Given the description of an element on the screen output the (x, y) to click on. 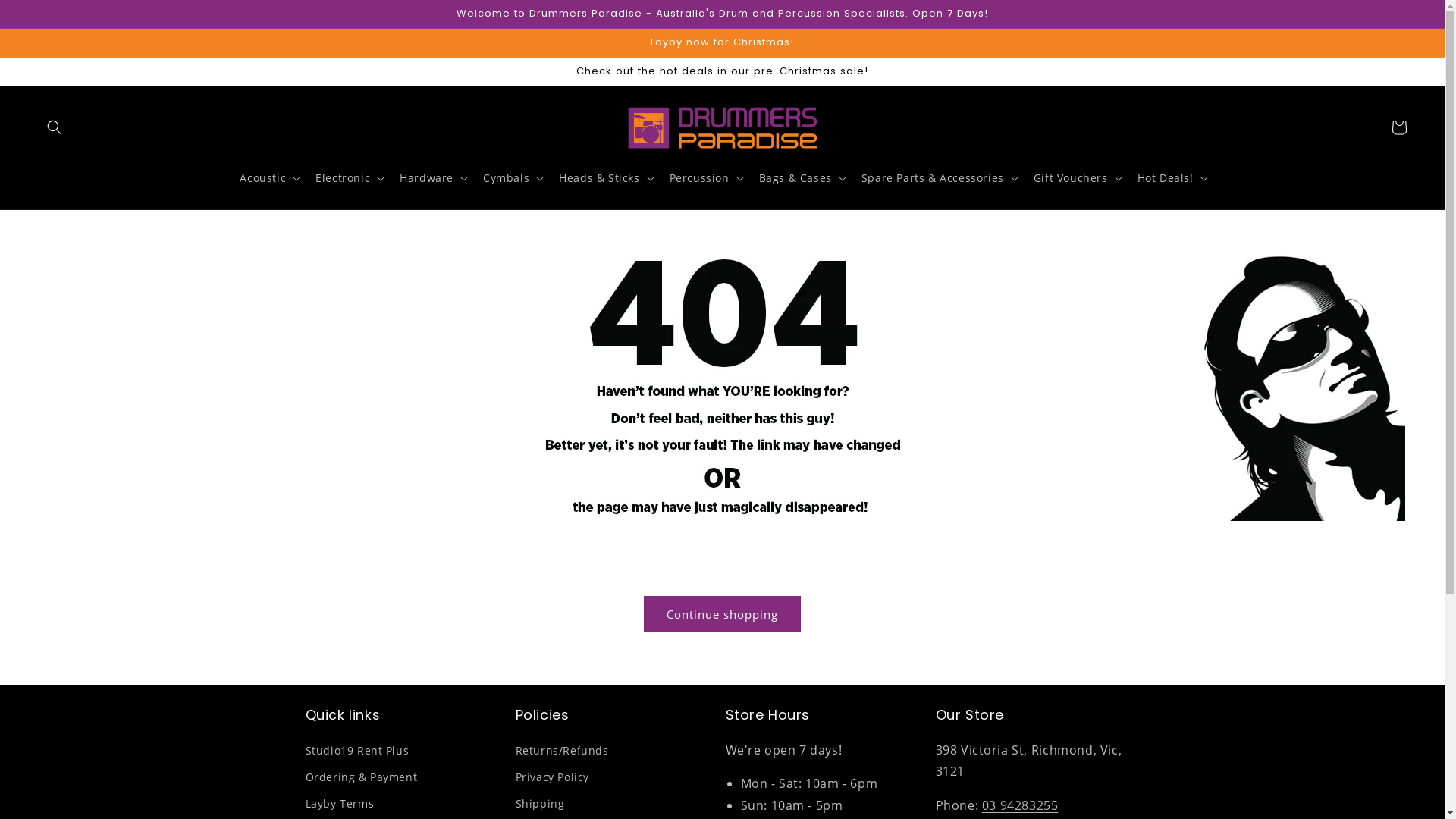
Returns/Refunds Element type: text (561, 751)
Studio19 Rent Plus Element type: text (356, 751)
Ordering & Payment Element type: text (360, 776)
Continue shopping Element type: text (721, 613)
Privacy Policy Element type: text (552, 776)
03 94283255 Element type: text (1020, 805)
Shipping Element type: text (539, 803)
Layby Terms Element type: text (338, 803)
Cart Element type: text (1398, 127)
